Given the description of an element on the screen output the (x, y) to click on. 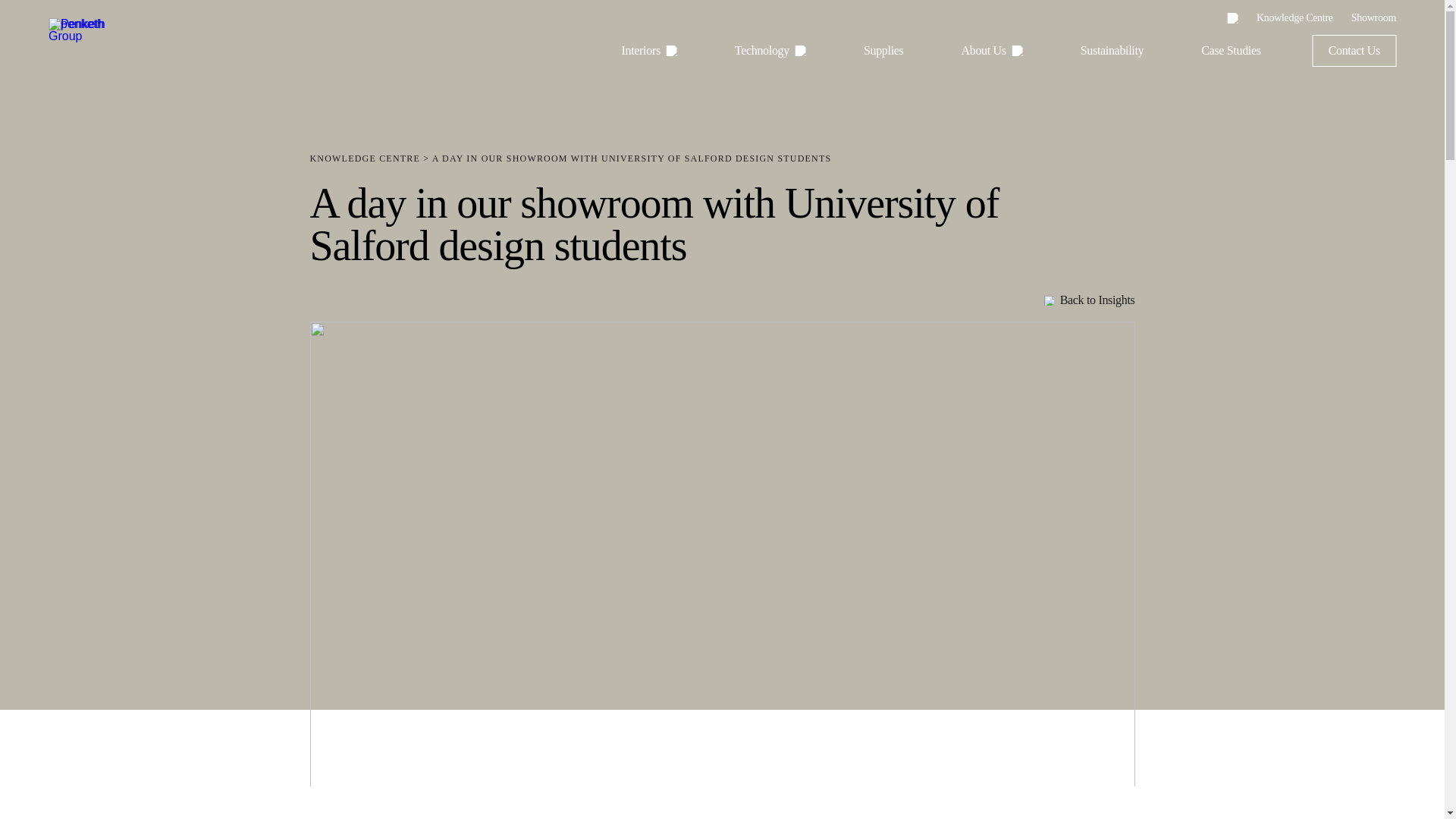
Contact Us (1353, 50)
Sustainability (1112, 50)
Case Studies (1230, 50)
Showroom (1373, 17)
Supplies (883, 50)
Knowledge Centre (1294, 17)
